Given the description of an element on the screen output the (x, y) to click on. 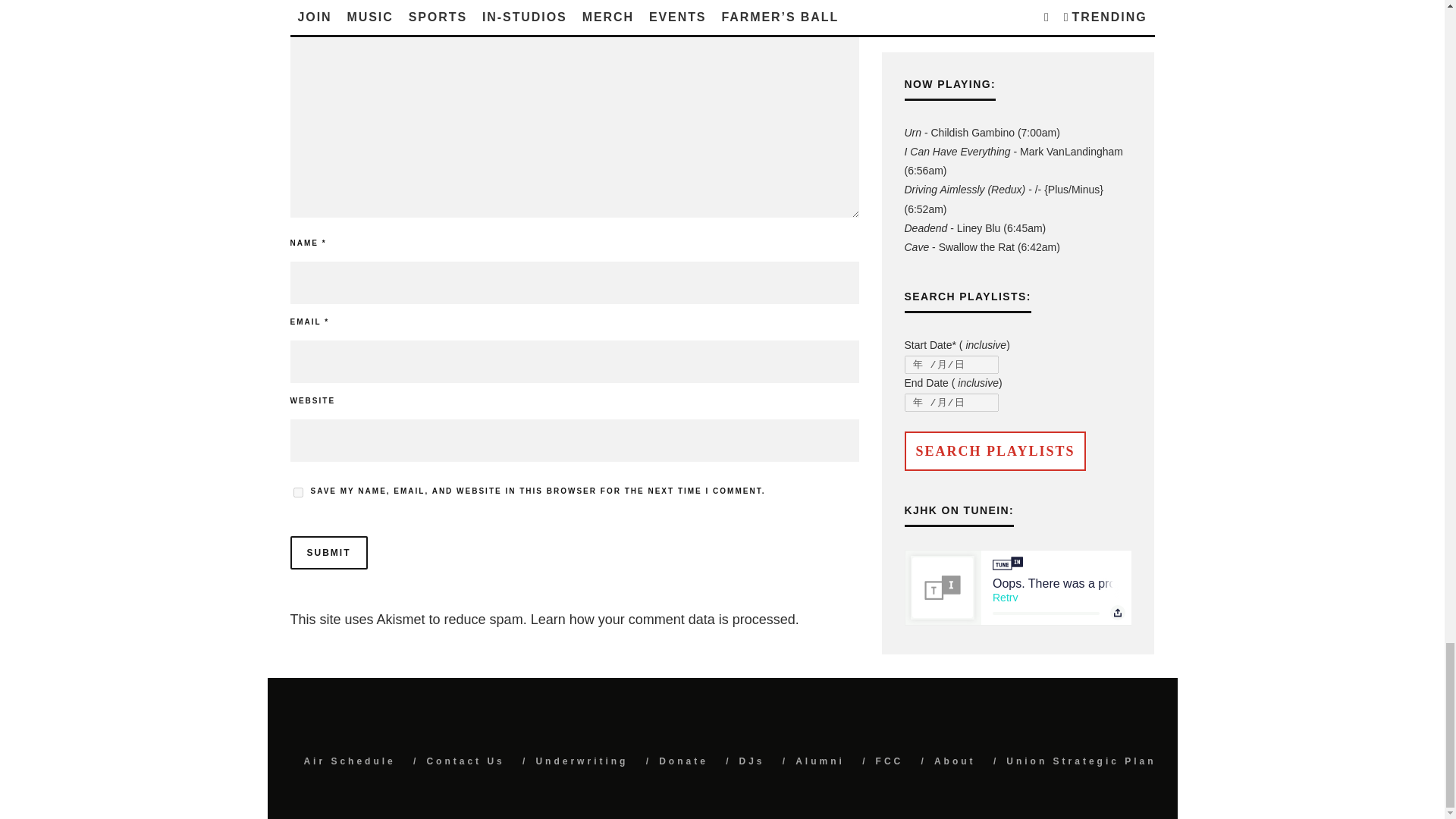
yes (297, 492)
Submit (327, 552)
